Given the description of an element on the screen output the (x, y) to click on. 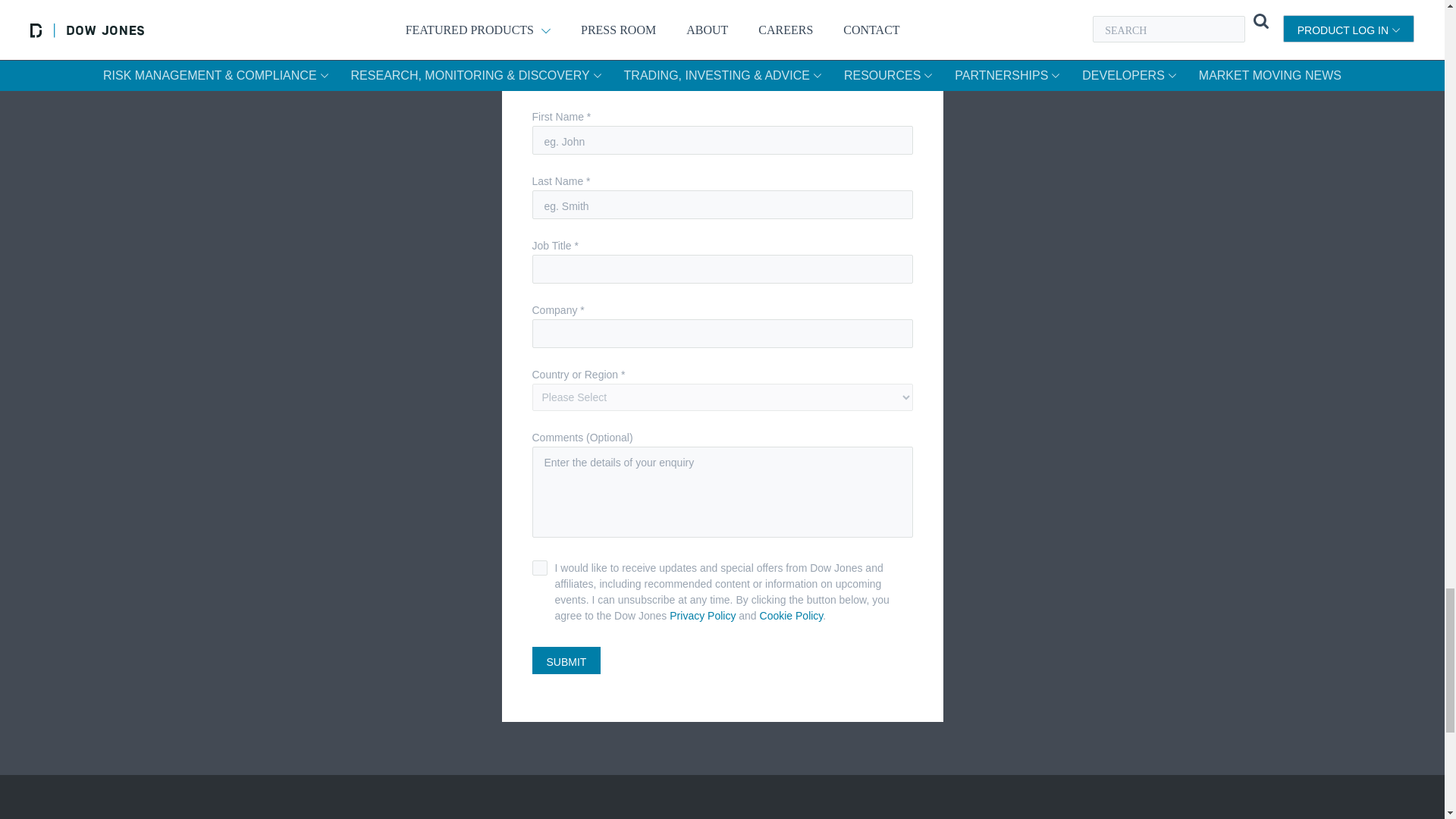
Submit (566, 660)
